Given the description of an element on the screen output the (x, y) to click on. 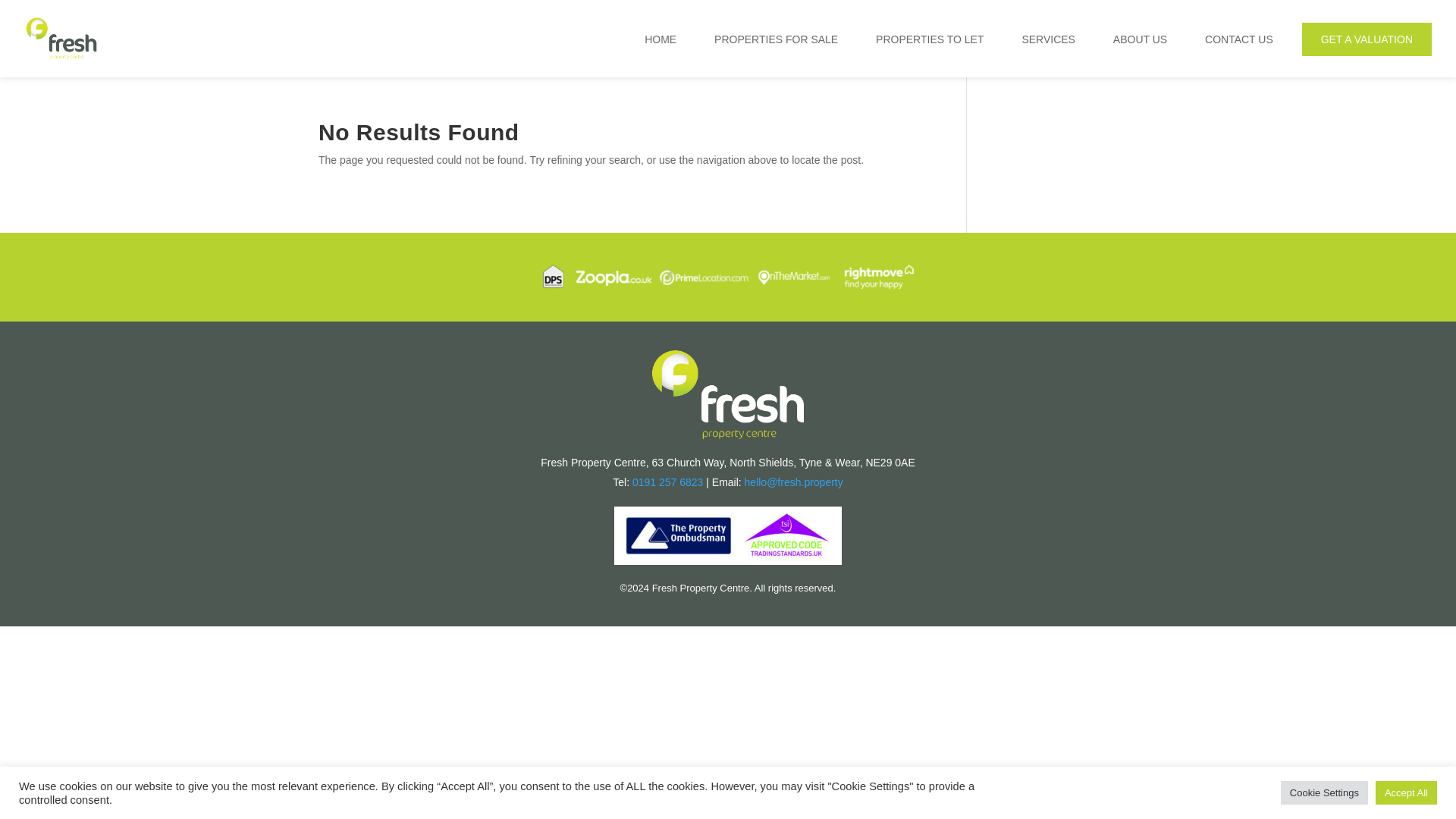
PROPERTIES FOR SALE (775, 40)
portals (727, 276)
PROPERTIES TO LET (929, 40)
CONTACT US (1238, 40)
SERVICES (1047, 40)
GET A VALUATION (1366, 39)
ABOUT US (1139, 40)
logo (727, 394)
HOME (659, 40)
0191 257 6823 (667, 481)
